Given the description of an element on the screen output the (x, y) to click on. 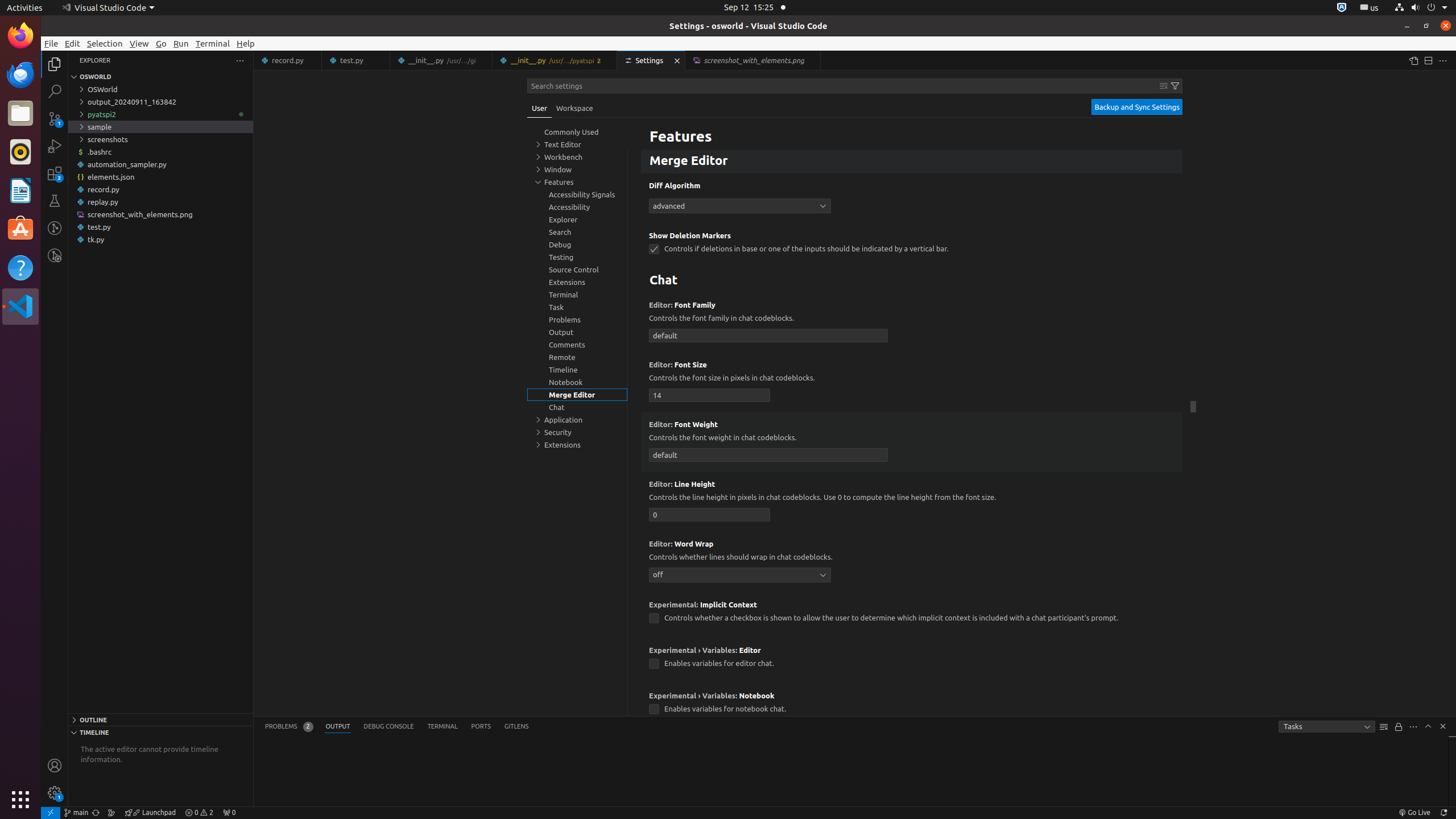
Extensions (Ctrl+Shift+X) - 2 require restart Extensions (Ctrl+Shift+X) - 2 require restart Element type: page-tab (54, 173)
elements.json Element type: tree-item (160, 176)
Problems, group Element type: tree-item (577, 319)
Testing, group Element type: tree-item (577, 256)
Debug, group Element type: tree-item (577, 244)
